Given the description of an element on the screen output the (x, y) to click on. 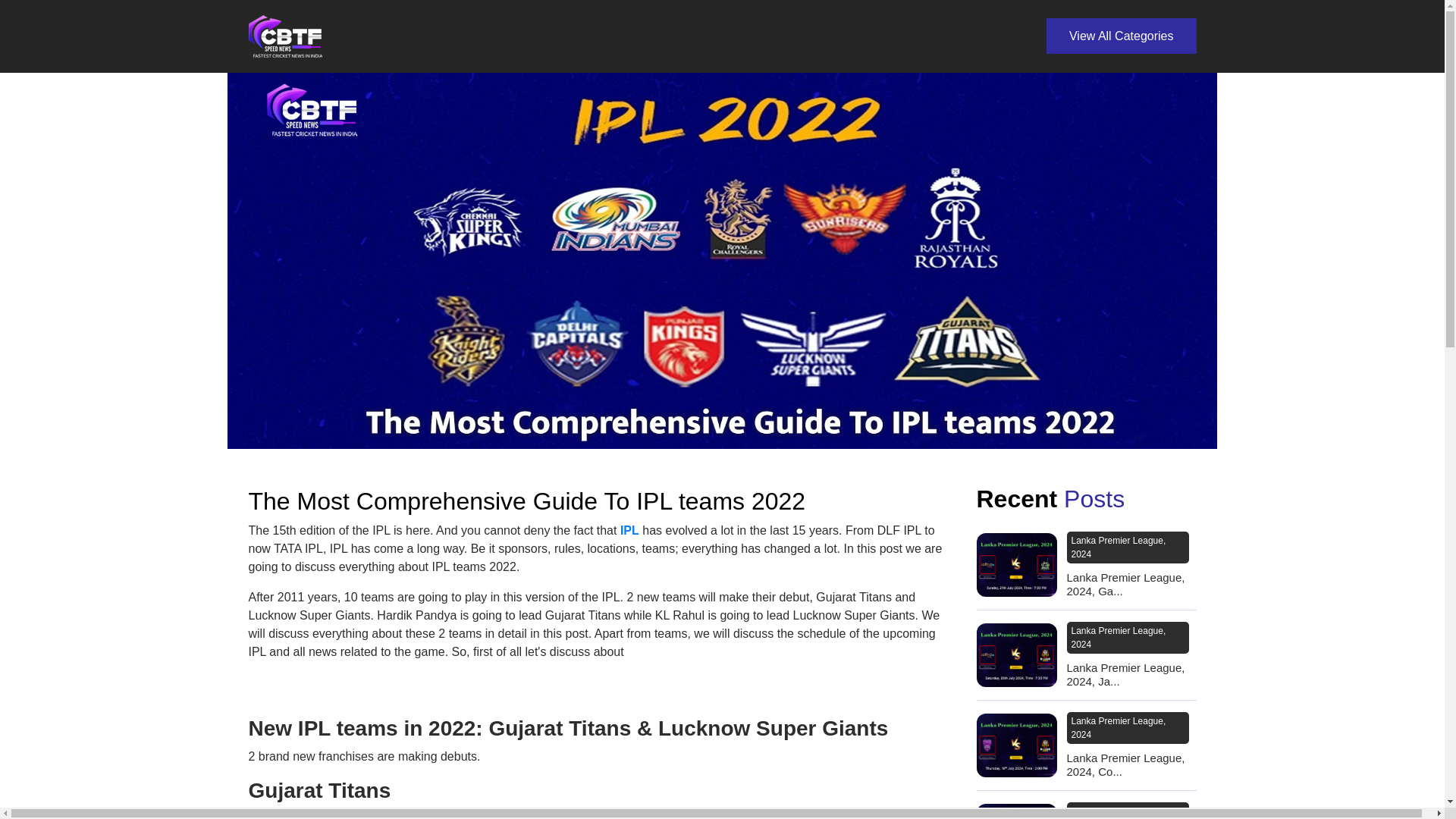
View All Categories (1121, 36)
Lanka Premier League, 2024 (1126, 637)
Lanka Premier League, 2024 (1126, 810)
Lanka Premier League, 2024, Ja... (1130, 674)
Lanka Premier League, 2024 (1126, 547)
Lanka Premier League, 2024, Ga... (1130, 584)
IPL (629, 530)
Lanka Premier League, 2024, Co... (1130, 764)
Lanka Premier League, 2024 (1126, 727)
